Given the description of an element on the screen output the (x, y) to click on. 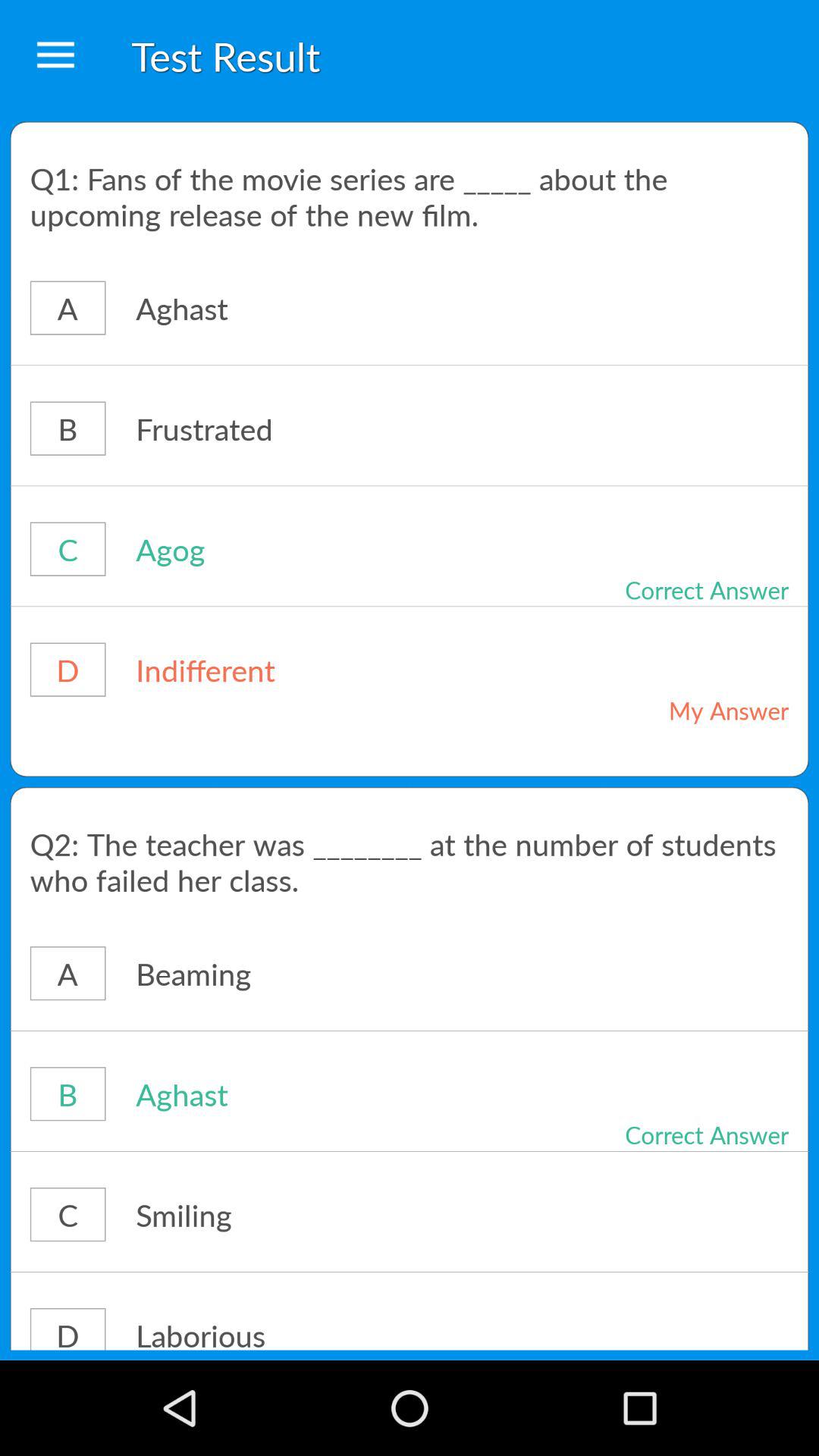
click icon above the c icon (409, 485)
